Given the description of an element on the screen output the (x, y) to click on. 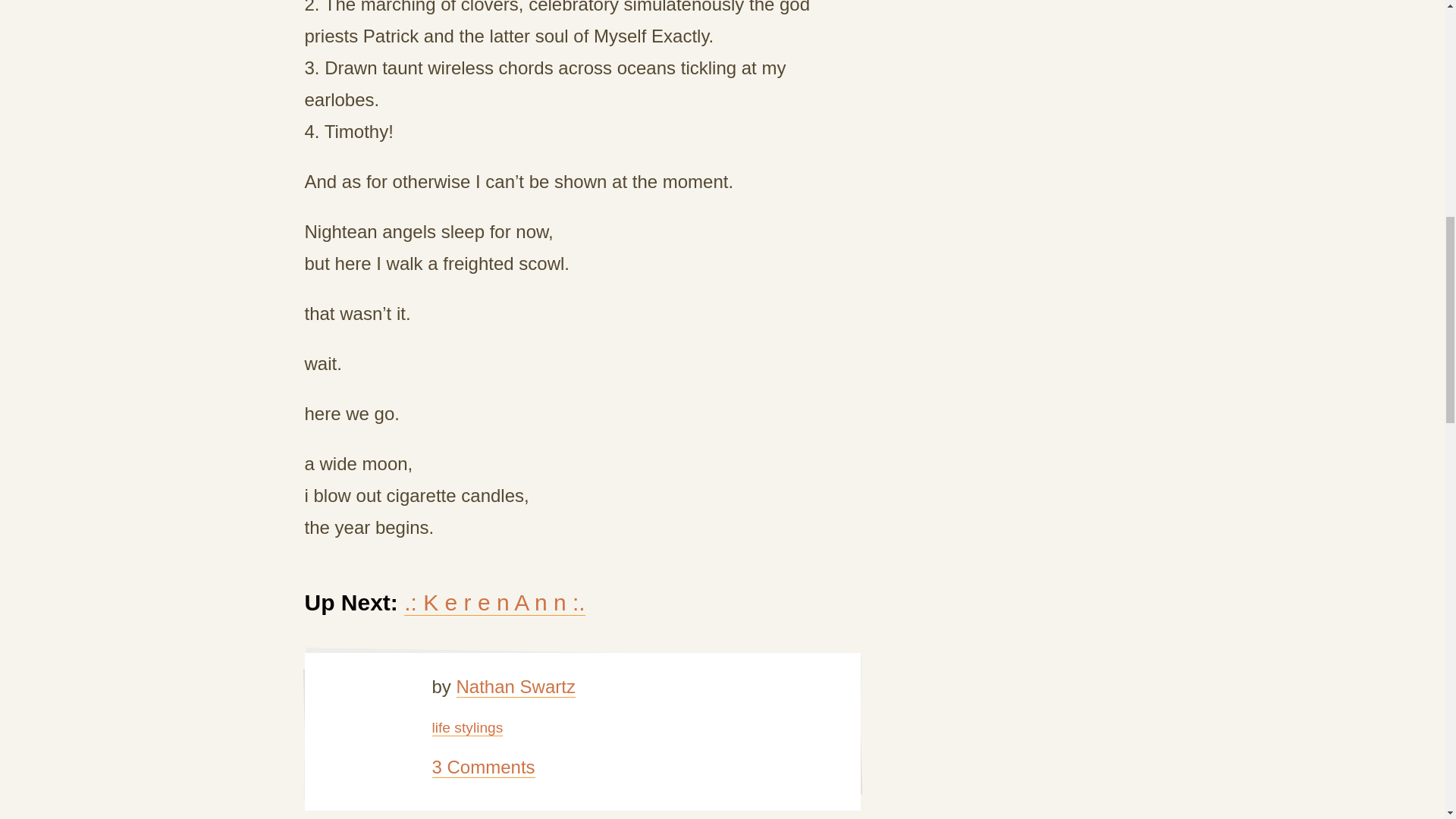
View all posts in life stylings (467, 727)
Nathan Swartz (516, 686)
3 Comments (483, 767)
.: K e r e n A n n :. (494, 602)
life stylings (467, 727)
